Given the description of an element on the screen output the (x, y) to click on. 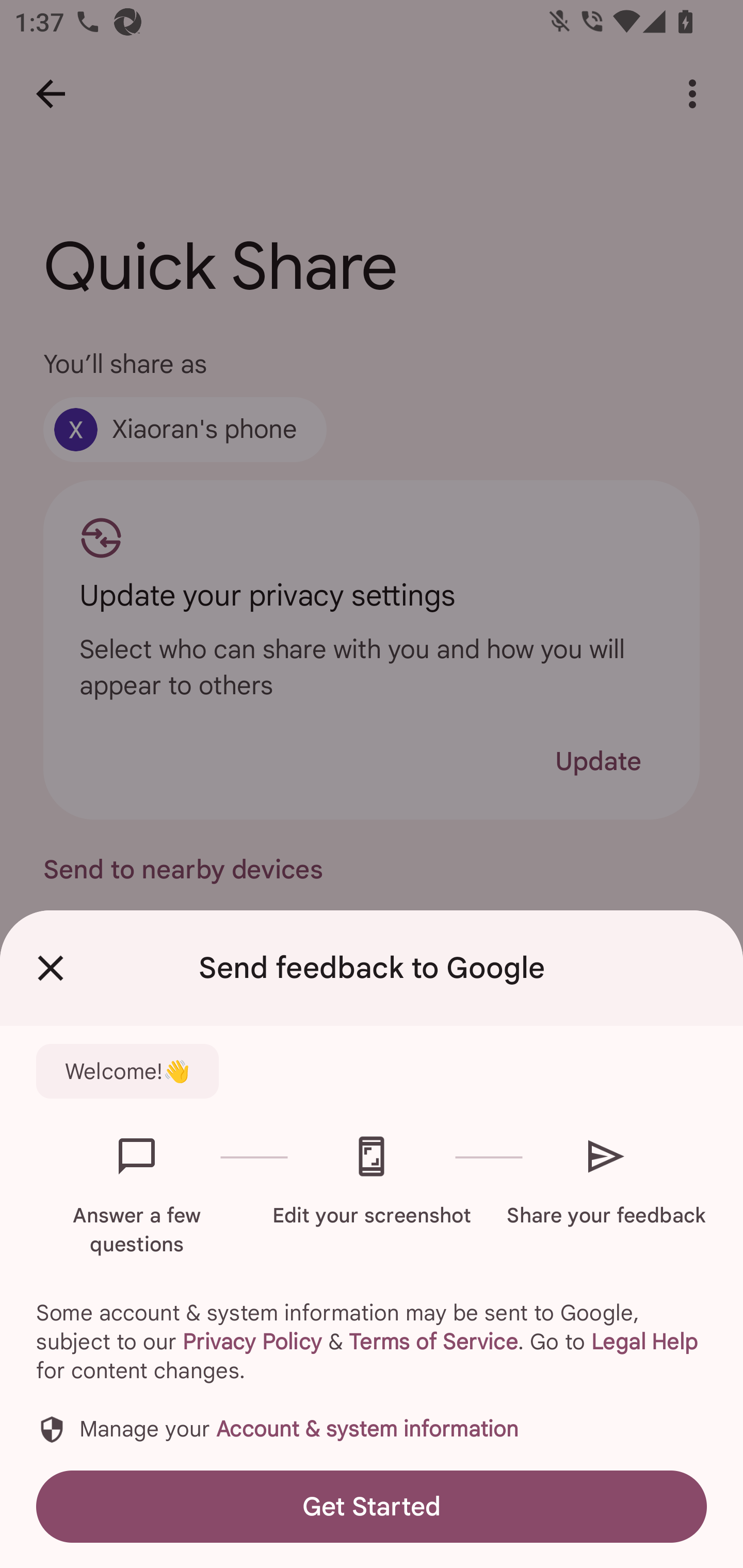
Close Feedback (50, 968)
Get Started (371, 1505)
